Given the description of an element on the screen output the (x, y) to click on. 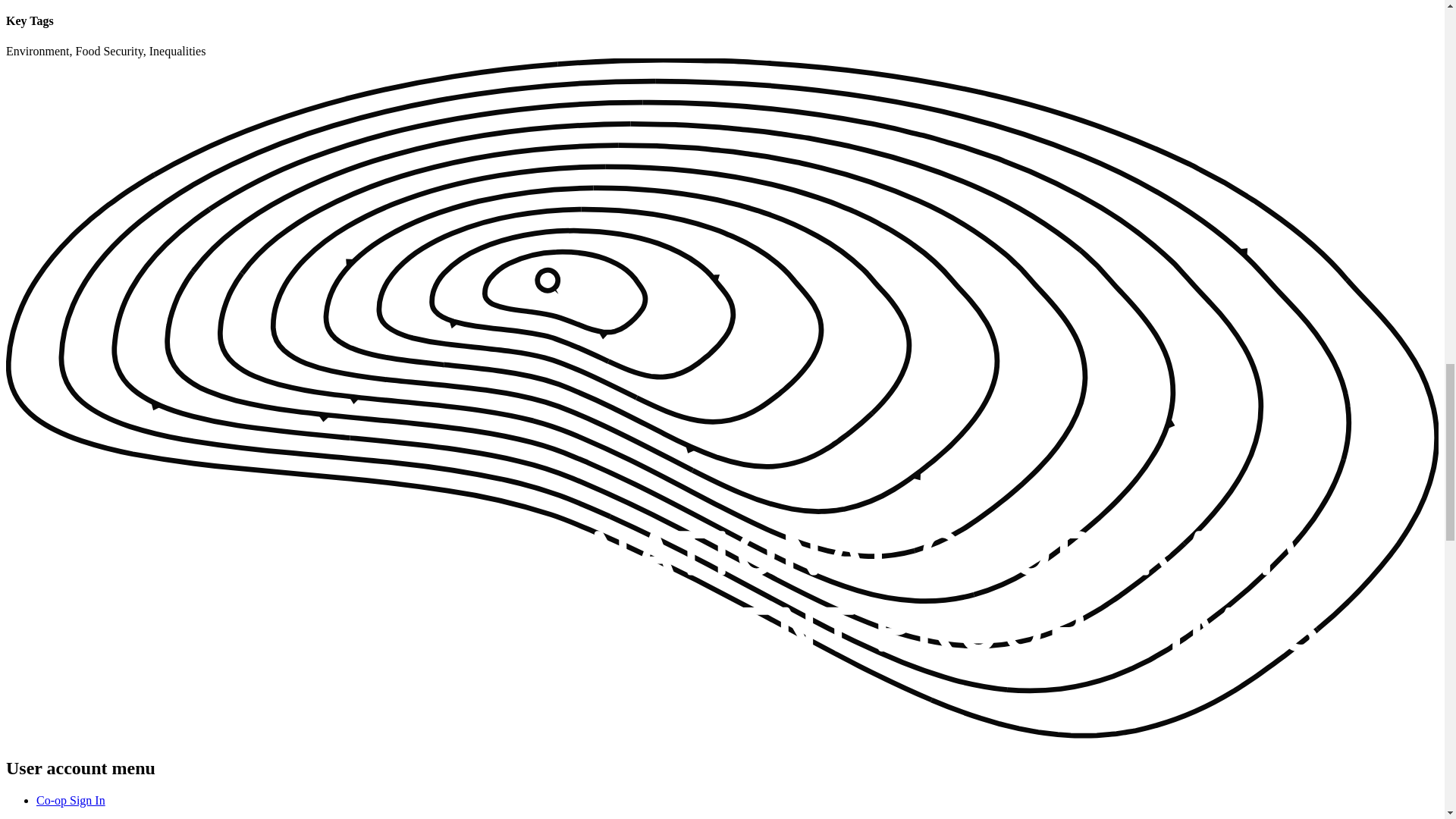
Co-op Sign In (70, 799)
